Given the description of an element on the screen output the (x, y) to click on. 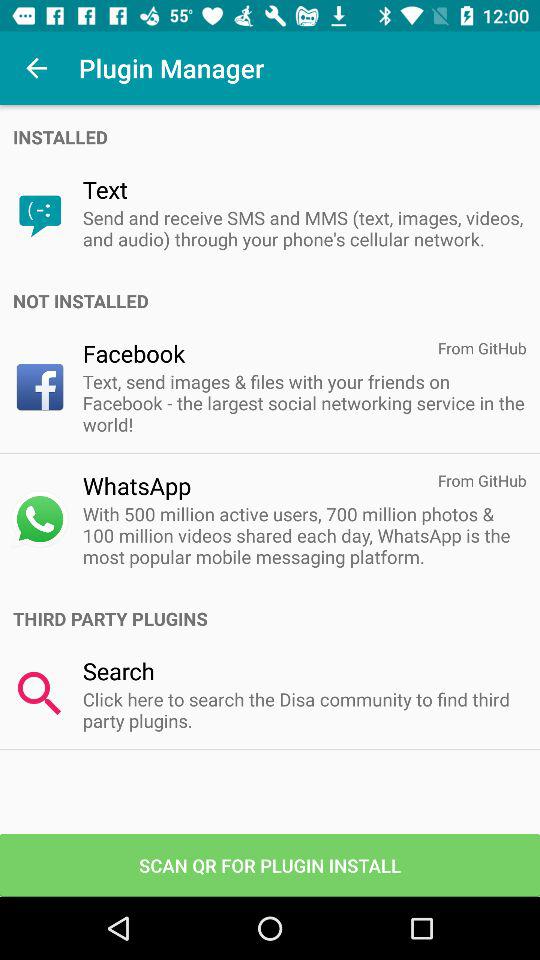
swipe to not installed (276, 300)
